Given the description of an element on the screen output the (x, y) to click on. 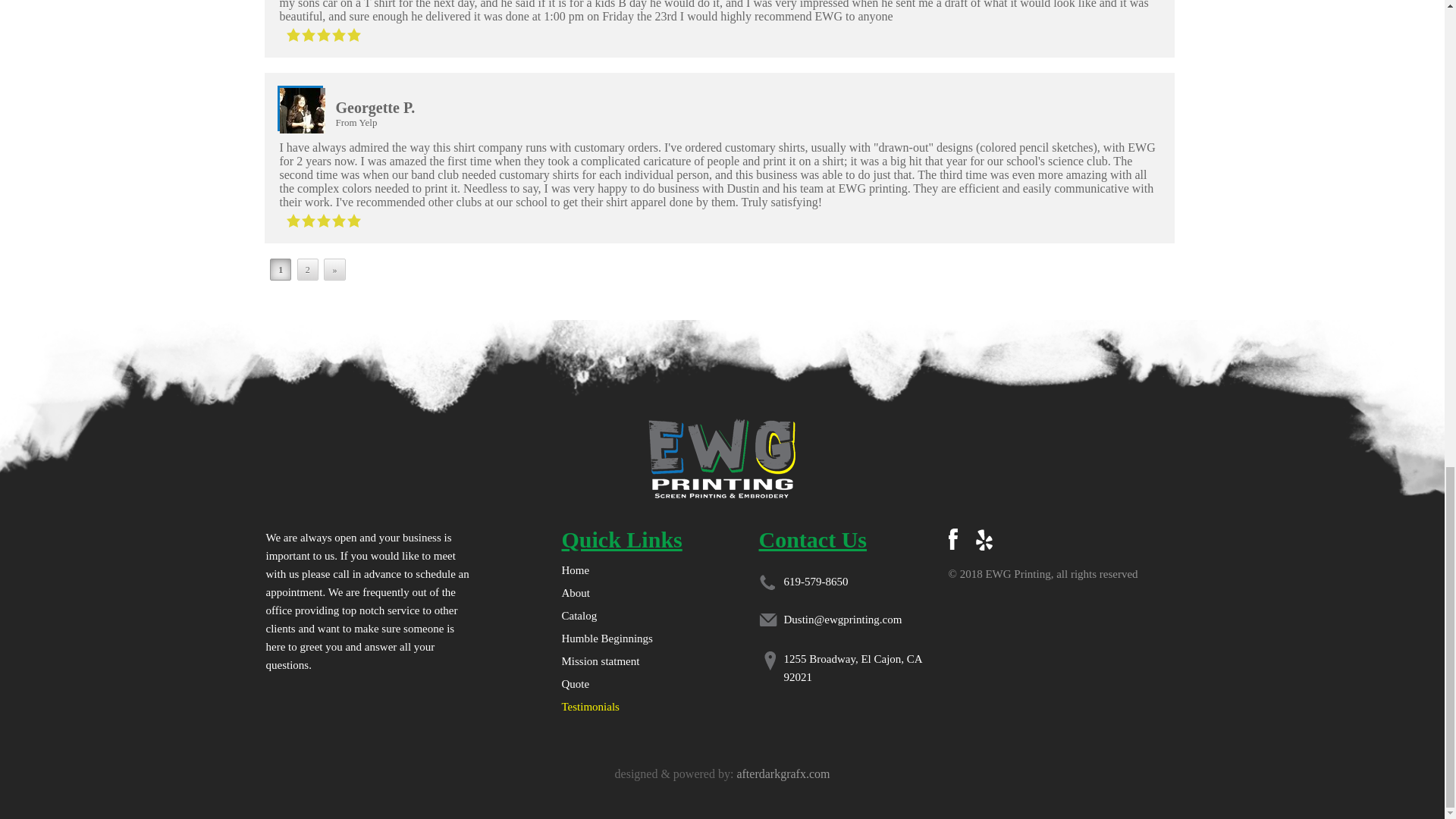
About (574, 592)
Humble Beginnings (606, 638)
Page 2 (307, 269)
2 (307, 269)
Home (574, 570)
Mission statment (599, 661)
Quote (574, 684)
Catalog (578, 615)
619-579-8650 (816, 581)
afterdarkgrafx.com (782, 773)
